Given the description of an element on the screen output the (x, y) to click on. 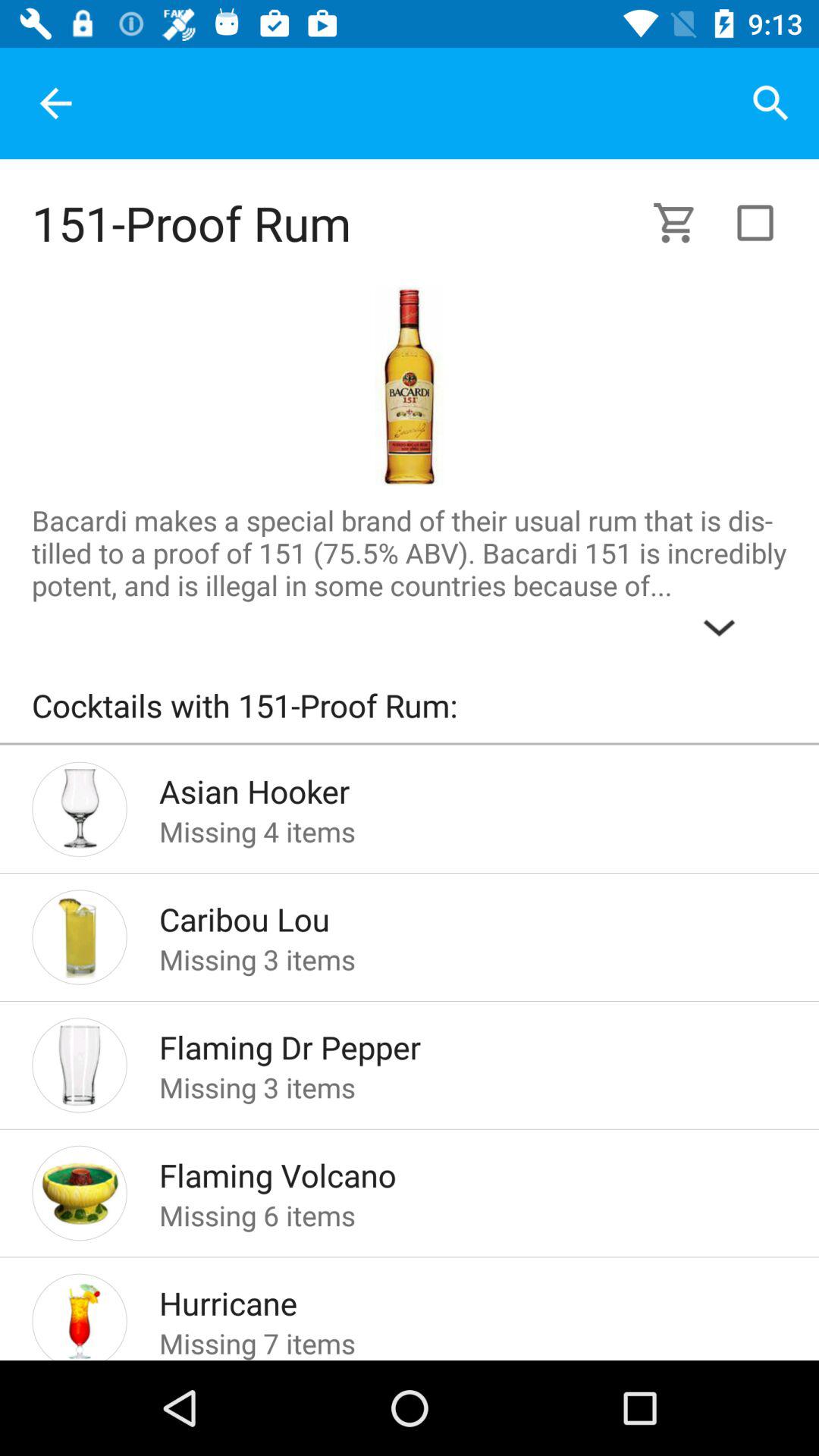
launch item below the cocktails with 151 item (409, 743)
